Given the description of an element on the screen output the (x, y) to click on. 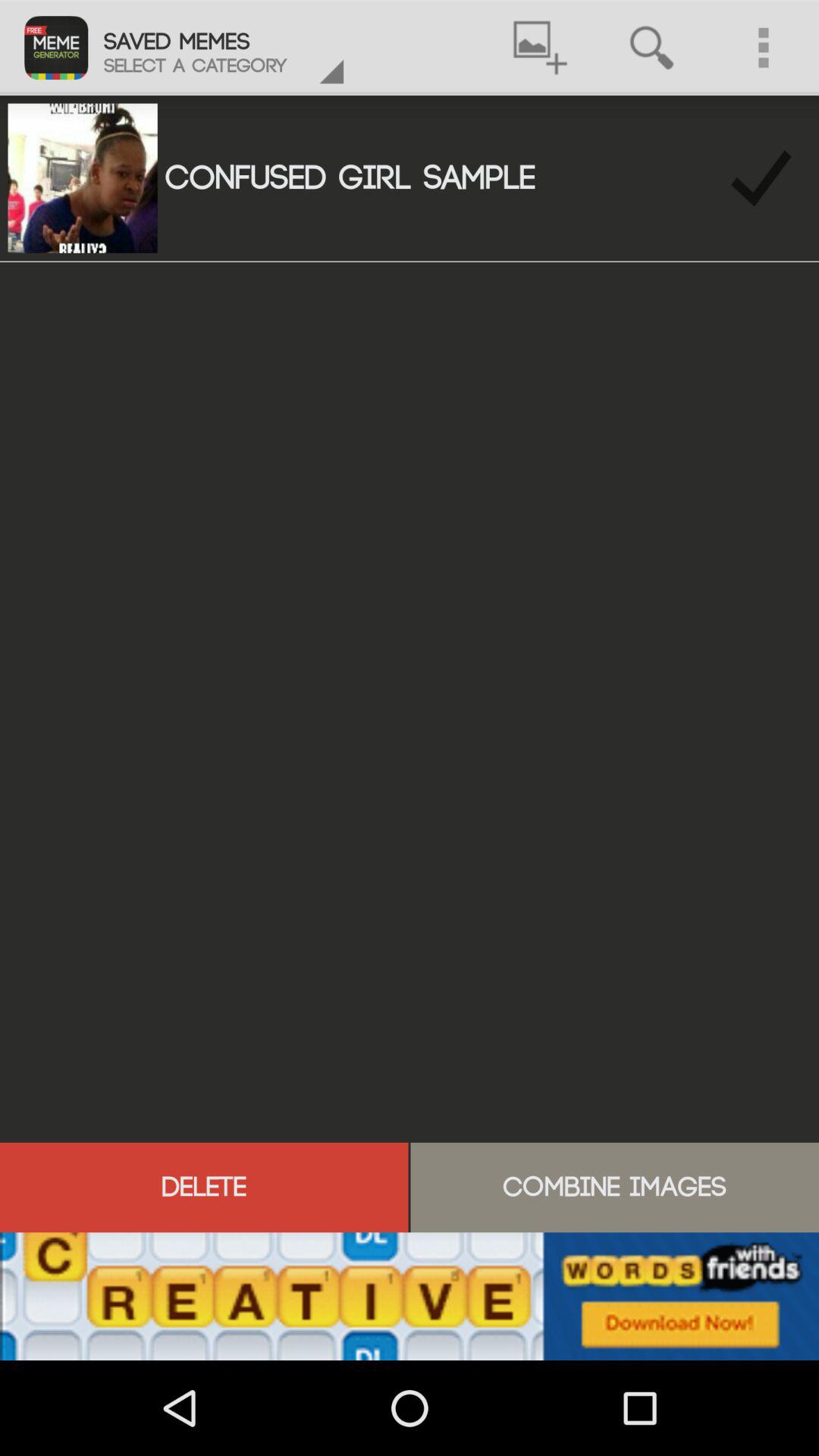
check item (761, 178)
